Given the description of an element on the screen output the (x, y) to click on. 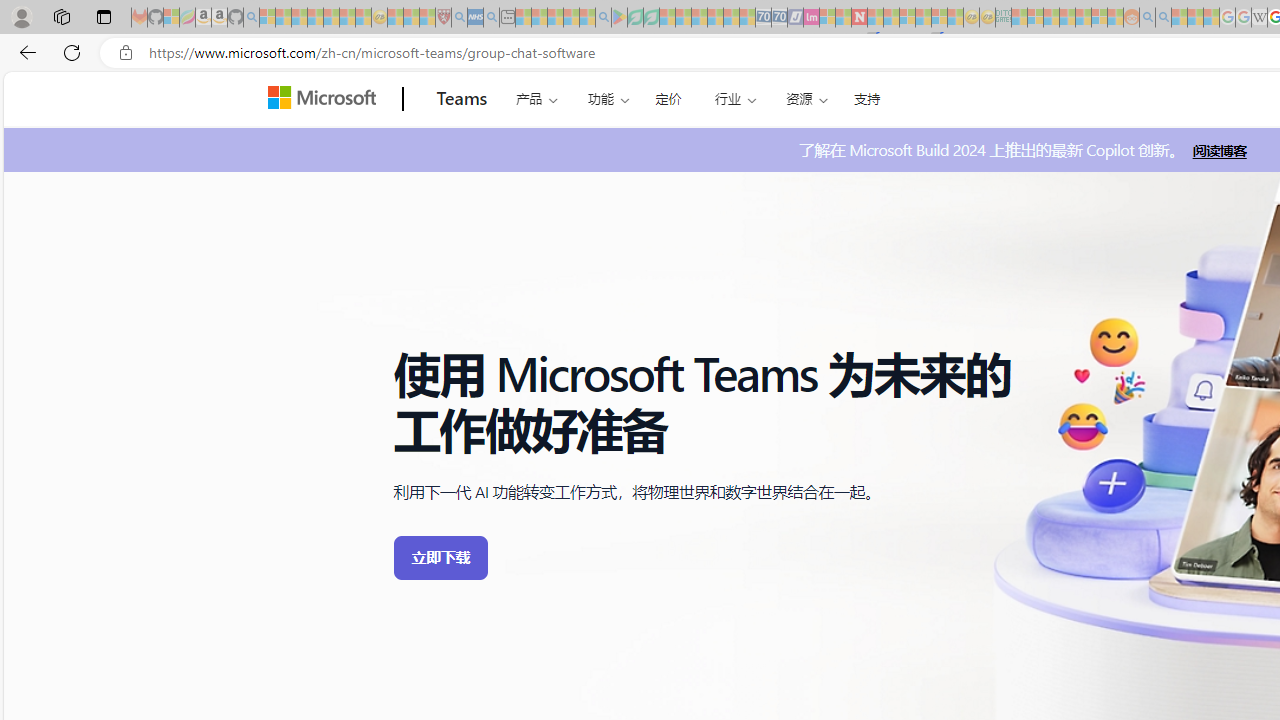
Target page - Wikipedia - Sleeping (1259, 17)
